Given the description of an element on the screen output the (x, y) to click on. 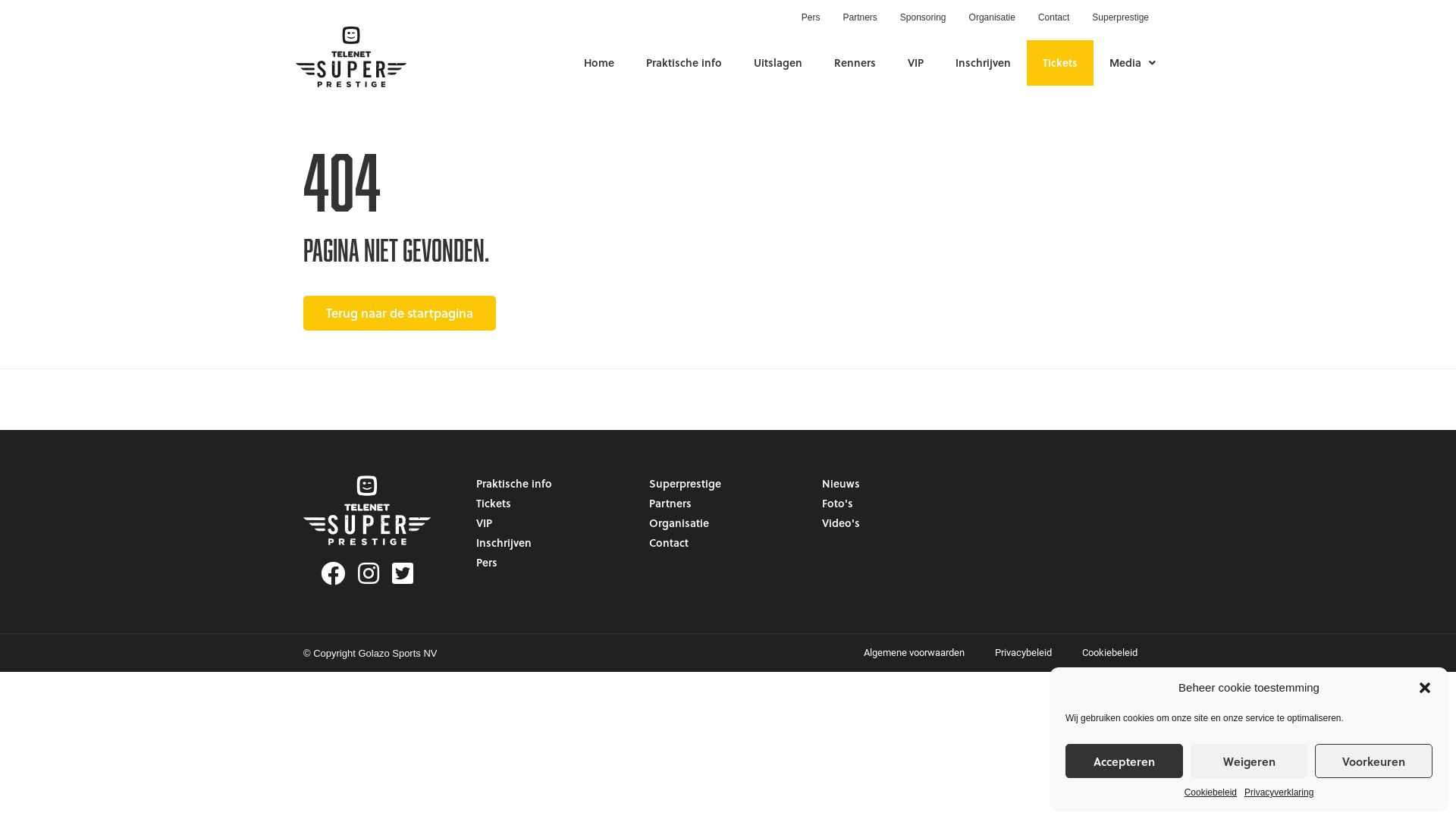
superprestige_logo_black Element type: hover (350, 56)
Nieuws Element type: text (900, 483)
Tickets Element type: text (554, 503)
Terug naar de startpagina Element type: text (399, 312)
Inschrijven Element type: text (554, 542)
Contact Element type: text (727, 542)
Contact Element type: text (1053, 16)
VIP Element type: text (554, 522)
Organisatie Element type: text (991, 16)
Partners Element type: text (859, 16)
Organisatie Element type: text (727, 522)
Praktische info Element type: text (683, 61)
Cookiebeleid Element type: text (1210, 792)
Sponsoring Element type: text (922, 16)
Instagram Element type: hover (371, 573)
Video's Element type: text (900, 522)
Praktische info Element type: text (554, 483)
Weigeren Element type: text (1249, 760)
Superprestige Element type: text (727, 483)
Pers Element type: text (554, 562)
Twitter Element type: hover (402, 573)
Media Element type: text (1132, 61)
Foto's Element type: text (900, 503)
Facebook Element type: hover (335, 573)
Pers Element type: text (810, 16)
Algemene voorwaarden Element type: text (913, 652)
Uitslagen Element type: text (777, 61)
Tickets Element type: text (1060, 61)
Voorkeuren Element type: text (1373, 760)
Accepteren Element type: text (1124, 760)
Partners Element type: text (727, 503)
Home Element type: text (598, 61)
VIP Element type: text (915, 61)
Cookiebeleid Element type: text (1109, 652)
Inschrijven Element type: text (982, 61)
Privacybeleid Element type: text (1022, 652)
Superprestige Element type: text (1120, 16)
Renners Element type: text (854, 61)
Privacyverklaring Element type: text (1278, 792)
